Given the description of an element on the screen output the (x, y) to click on. 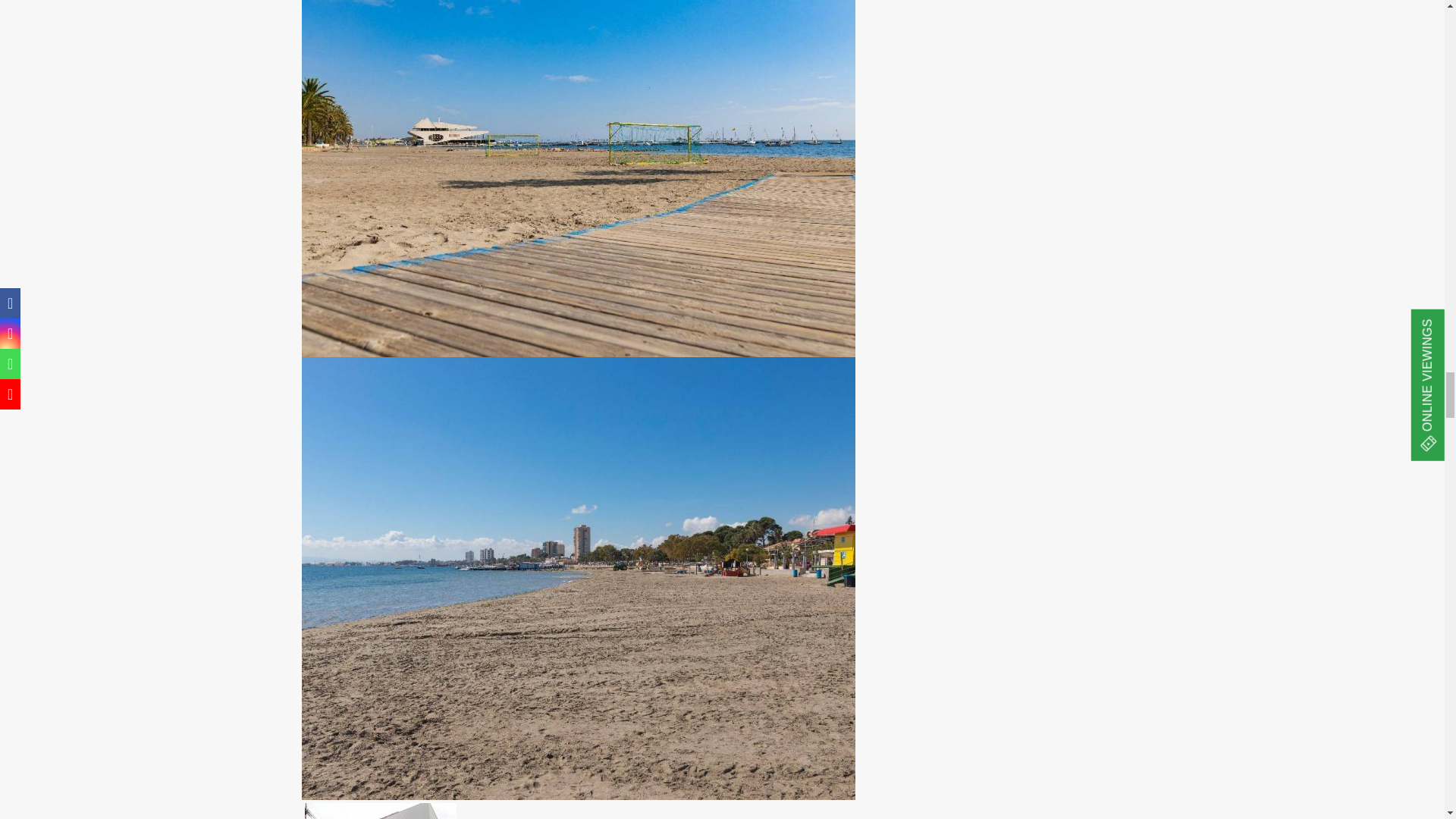
New Build - Villa - San Javier - Santiago de la Ribera (380, 809)
